Given the description of an element on the screen output the (x, y) to click on. 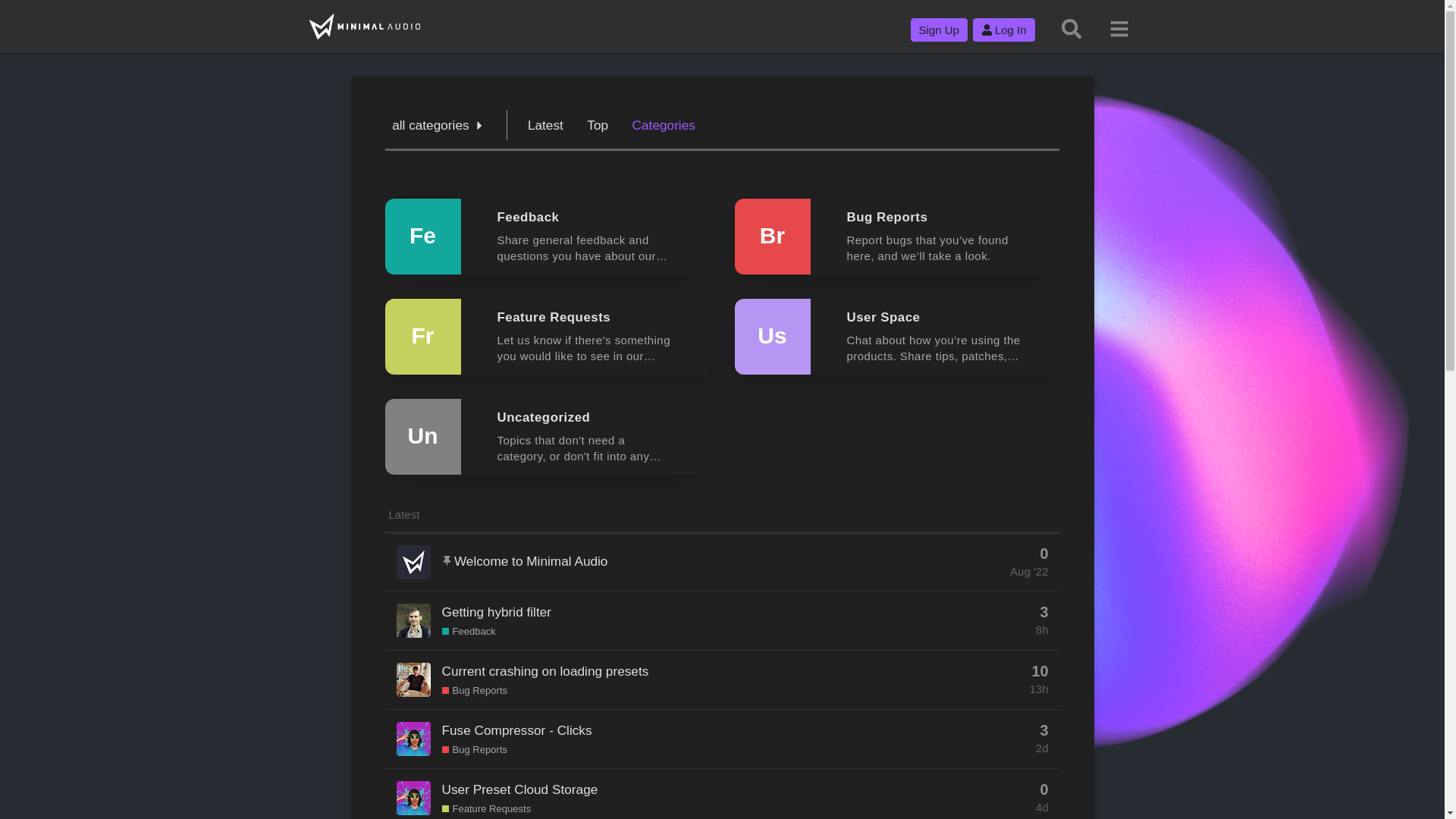
Log In Element type: text (1003, 29)
Feedback Element type: text (468, 631)
Getting hybrid filter Element type: text (497, 611)
Categories Element type: text (663, 124)
0 Element type: text (1043, 553)
Fuse Compressor - Clicks Element type: text (517, 730)
Latest Element type: text (545, 124)
Top Element type: text (597, 124)
13h Element type: text (1038, 688)
system Element type: hover (413, 562)
3 Element type: text (1043, 730)
Feedback Element type: text (528, 216)
Welcome to Minimal Audio Element type: text (531, 561)
ben.minimal Element type: hover (413, 620)
qbikmusik Element type: hover (413, 798)
User Preset Cloud Storage Element type: text (520, 789)
Uncategorized Element type: text (543, 417)
2d Element type: text (1041, 747)
Bug Reports Element type: text (475, 749)
0 Element type: text (1043, 789)
Feature Requests Element type: text (554, 316)
menu Element type: hover (1119, 28)
qbikmusik Element type: hover (413, 738)
10 Element type: text (1039, 671)
User Space Element type: text (882, 316)
Search Element type: hover (1071, 28)
Bug Reports Element type: text (886, 216)
Bug Reports Element type: text (475, 690)
3 Element type: text (1043, 612)
Aug '22 Element type: text (1029, 570)
Feature Requests Element type: text (486, 808)
Sign Up Element type: text (938, 29)
8h Element type: text (1041, 629)
4d Element type: text (1041, 806)
jake.minimal Element type: hover (413, 679)
Current crashing on loading presets Element type: text (545, 671)
